Given the description of an element on the screen output the (x, y) to click on. 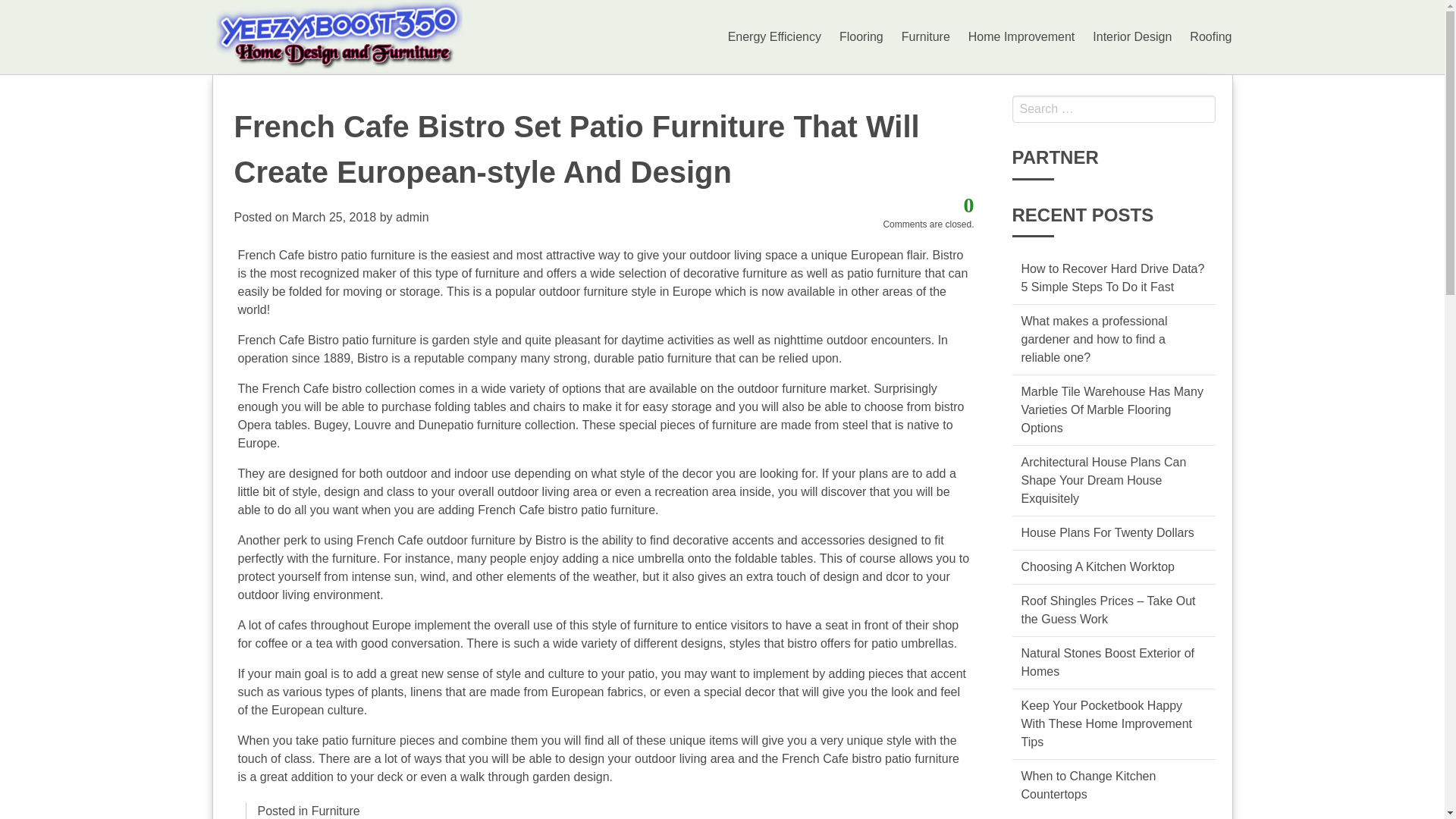
Furniture (335, 810)
Furniture (925, 37)
Search (25, 9)
Natural Stones Boost Exterior of Homes (1106, 662)
Search for: (1112, 108)
How to Recover Hard Drive Data? 5 Simple Steps To Do it Fast (1112, 277)
Keep Your Pocketbook Happy With These Home Improvement Tips (1106, 723)
House Plans For Twenty Dollars (1106, 532)
